Given the description of an element on the screen output the (x, y) to click on. 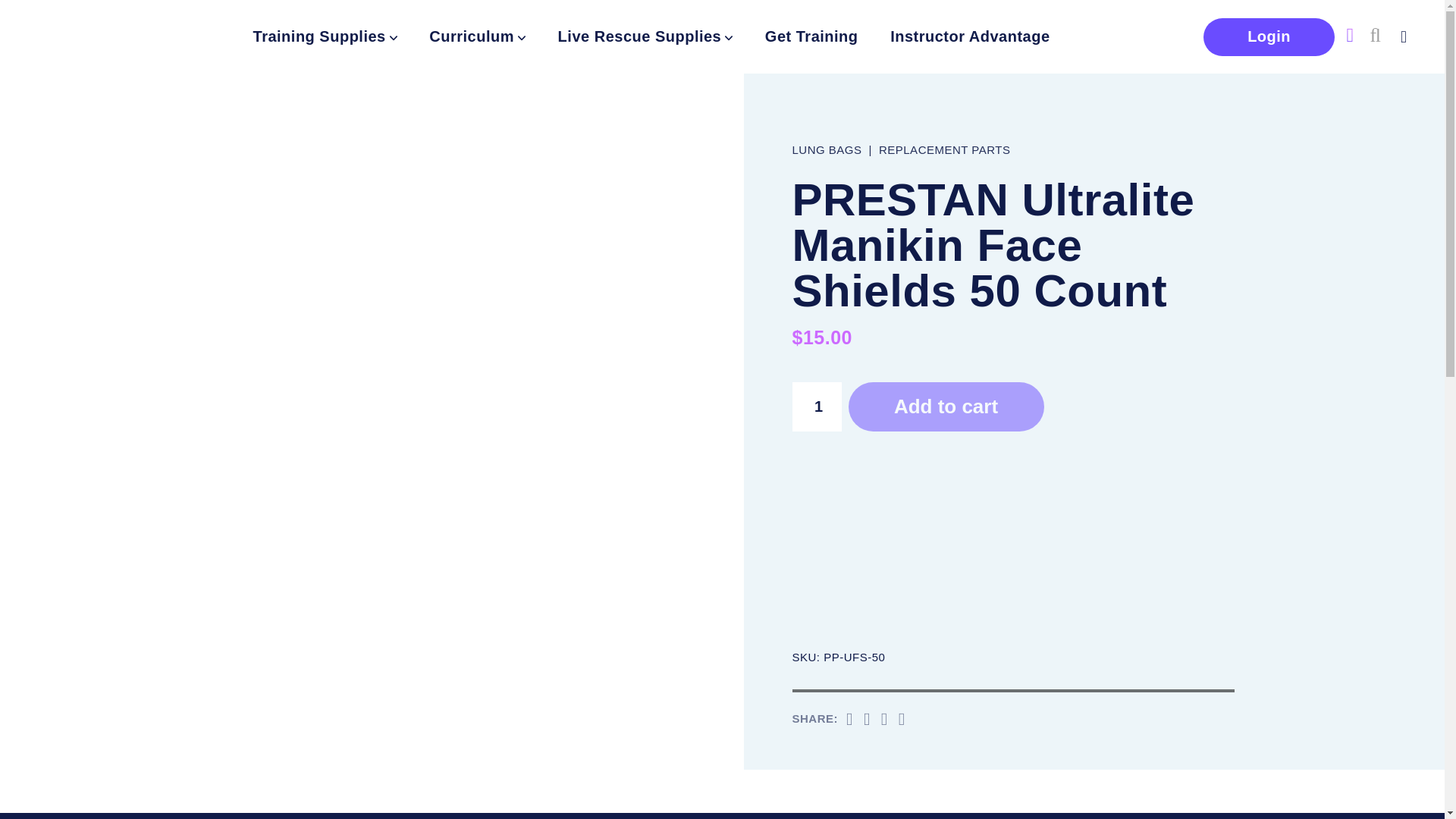
1 (816, 406)
Shop Vitali (63, 36)
